Given the description of an element on the screen output the (x, y) to click on. 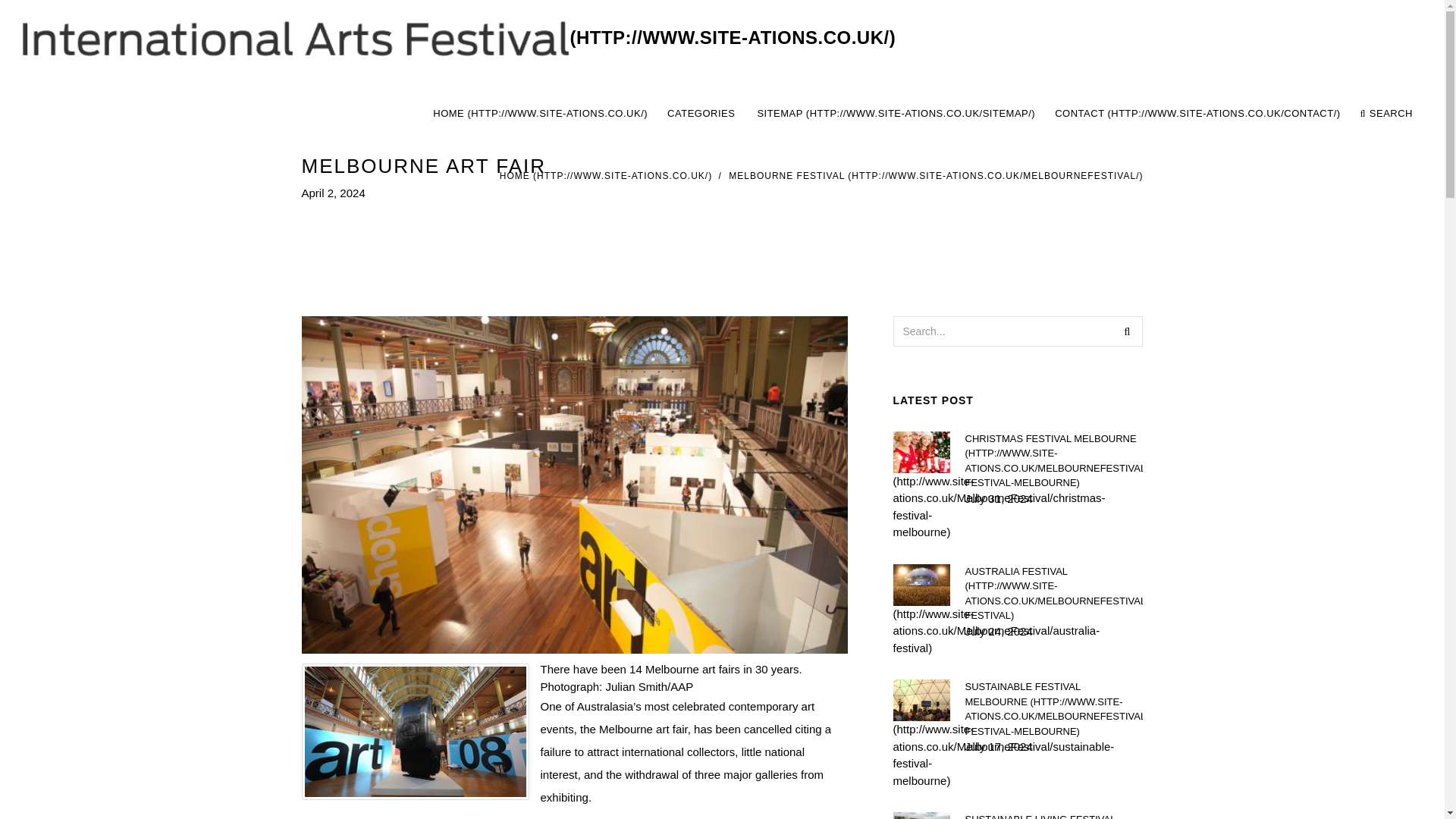
CONTACT (1197, 113)
SUSTAINABLE FESTIVAL MELBOURNE (1052, 708)
HOME (539, 113)
MELBOURNE FESTIVAL (935, 175)
HOME (605, 175)
SITEMAP (895, 113)
Search (1126, 330)
SUSTAINABLE LIVING FESTIVAL MELBOURNE (1052, 815)
SEARCH (1386, 113)
CATEGORIES (701, 113)
